Given the description of an element on the screen output the (x, y) to click on. 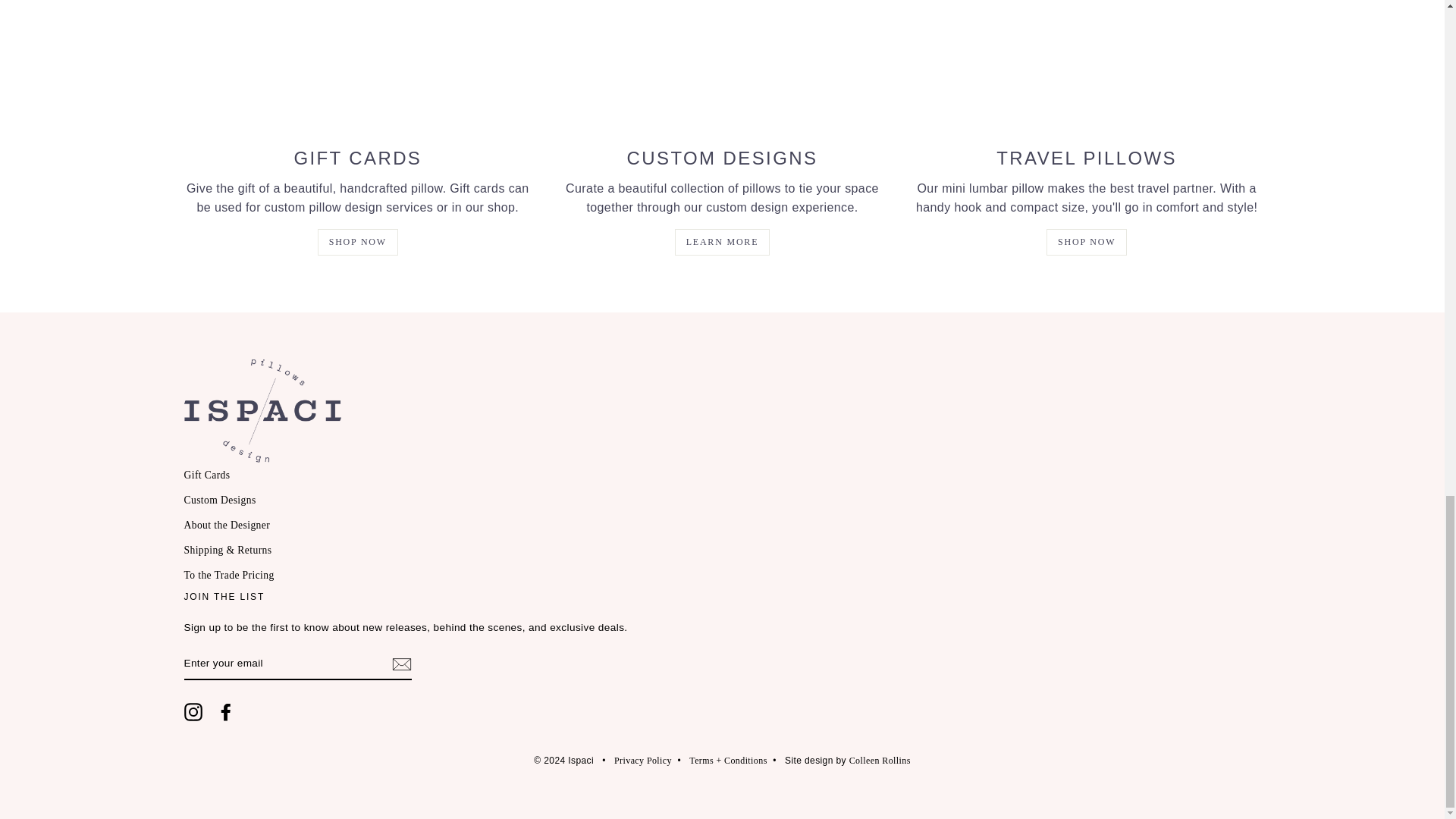
Ispaci on Instagram (192, 711)
Ispaci on Facebook (225, 711)
